Given the description of an element on the screen output the (x, y) to click on. 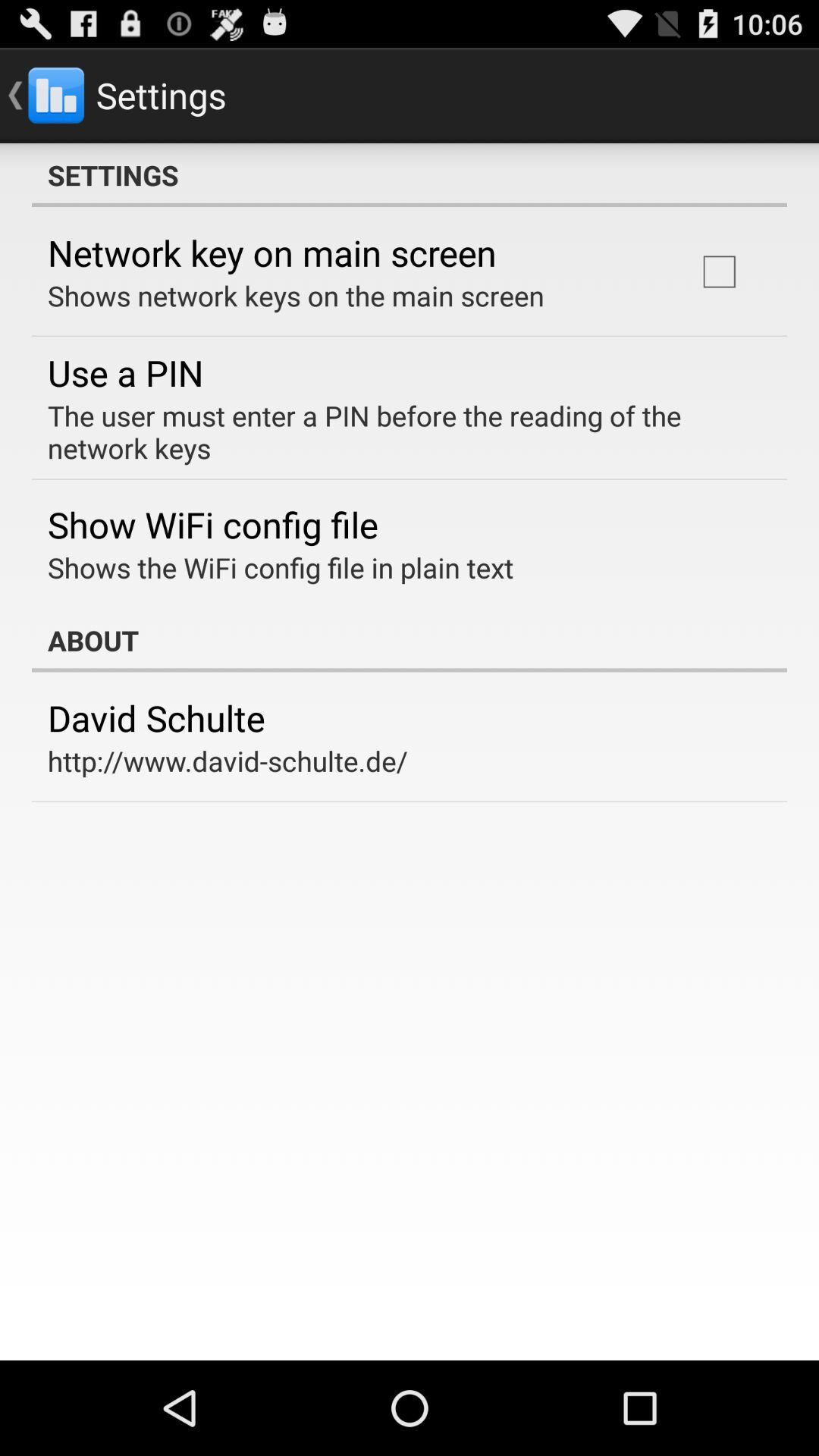
open the icon below use a pin item (399, 431)
